Given the description of an element on the screen output the (x, y) to click on. 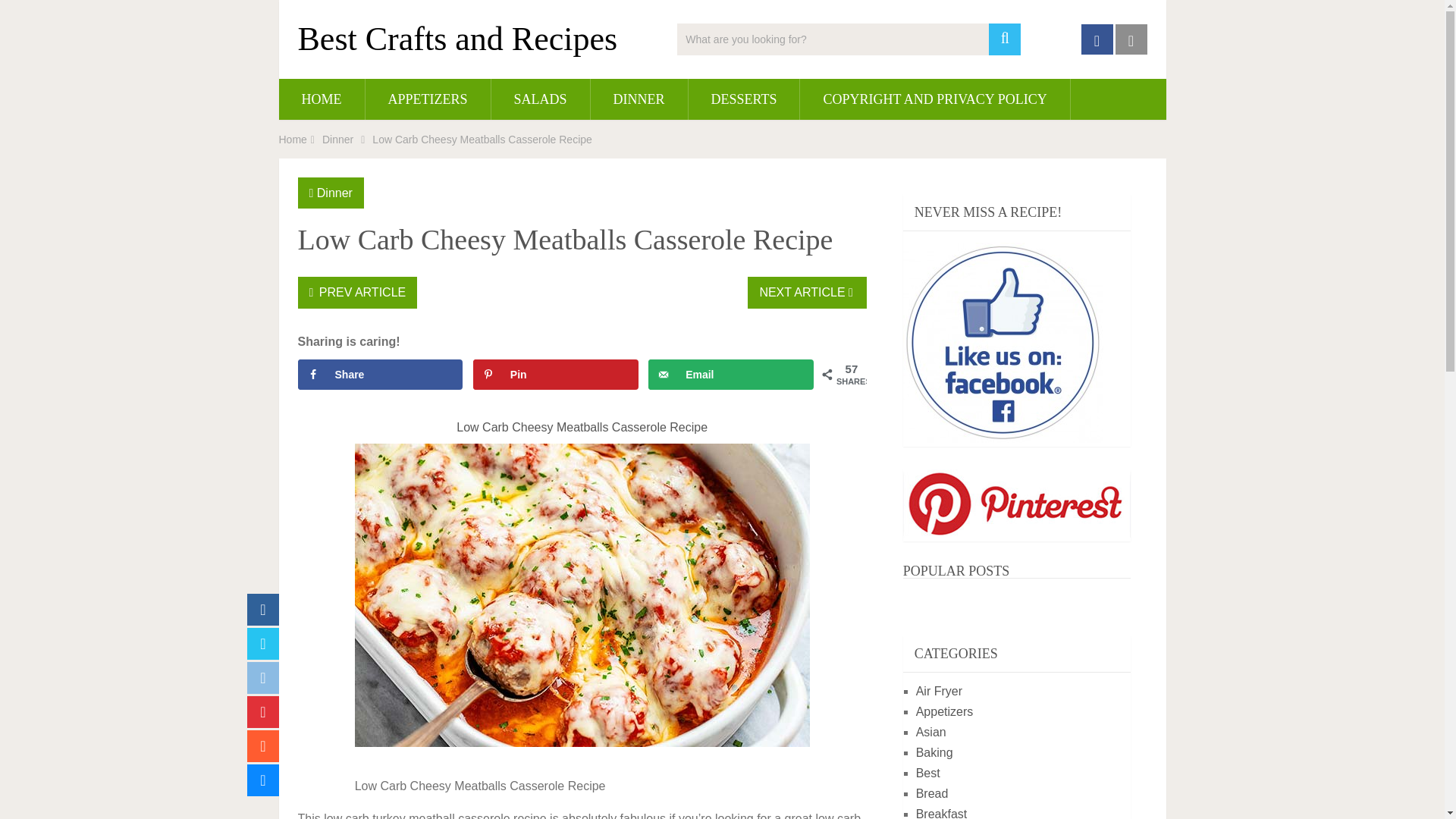
Home (293, 139)
Send over email (730, 374)
APPETIZERS (427, 98)
SALADS (540, 98)
COPYRIGHT AND PRIVACY POLICY (933, 98)
Save to Pinterest (556, 374)
Share (380, 374)
DESSERTS (743, 98)
HOME (322, 98)
Best Crafts and Recipes (457, 39)
Dinner (337, 139)
DINNER (639, 98)
PREV ARTICLE (356, 292)
Email (730, 374)
View all posts in Dinner (334, 192)
